Given the description of an element on the screen output the (x, y) to click on. 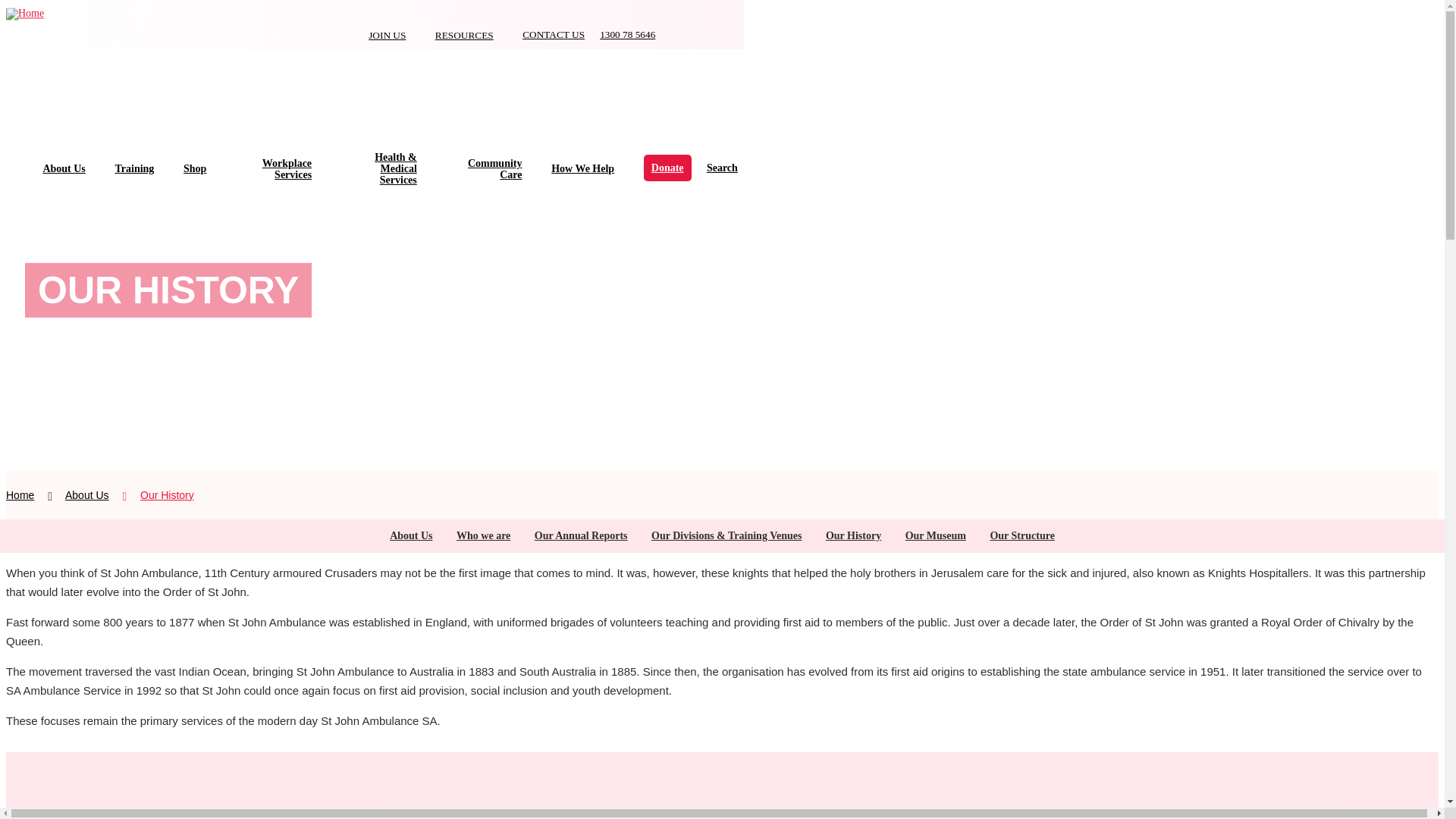
Training (134, 168)
RESOURCES (464, 34)
Shop (194, 168)
Community Care (494, 169)
1300 78 5646 (627, 34)
How We Help (582, 168)
Workplace Services (286, 169)
JOIN US (387, 34)
CONTACT US (553, 34)
About Us (63, 168)
